Given the description of an element on the screen output the (x, y) to click on. 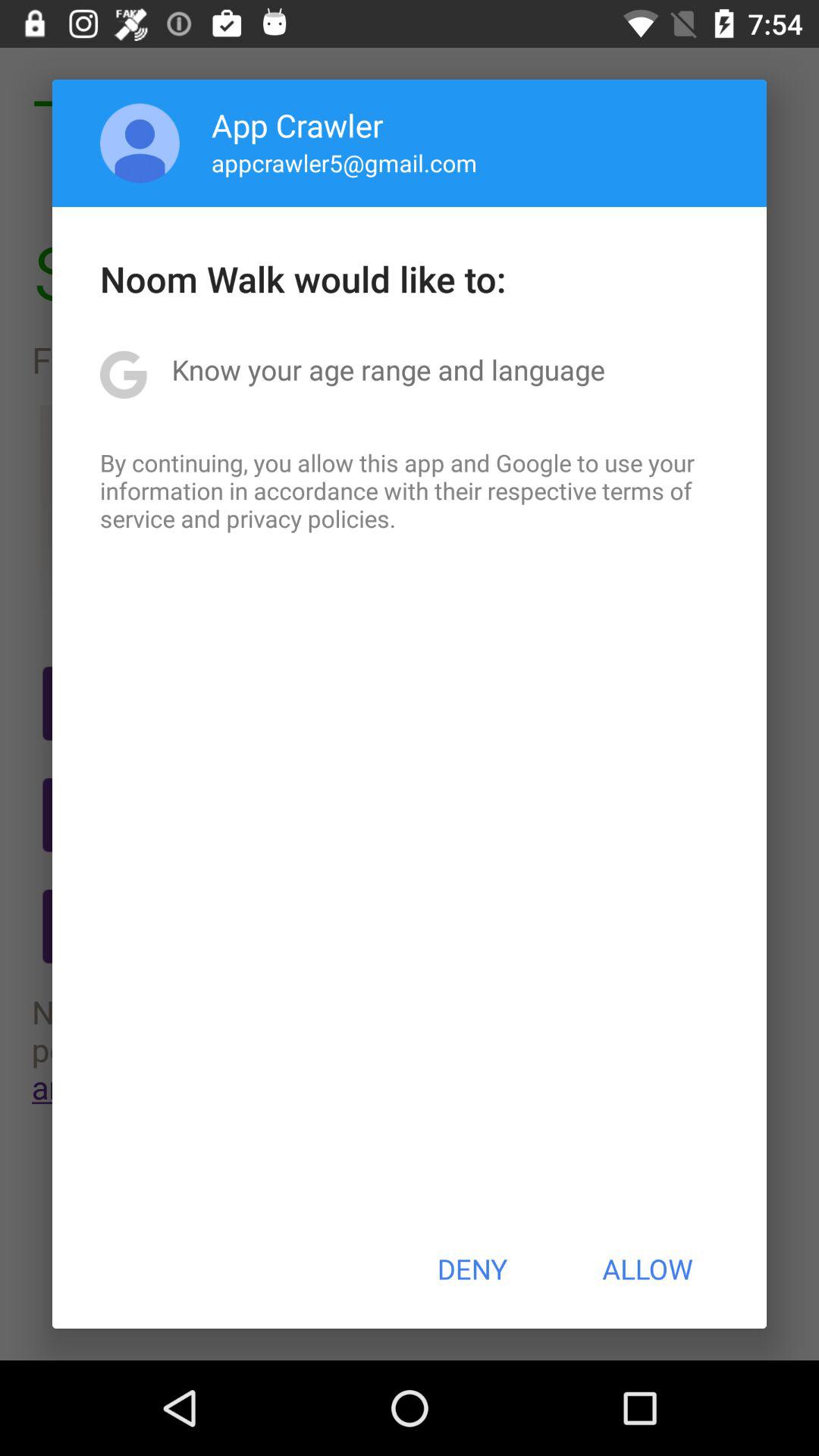
click the button next to allow button (471, 1268)
